Given the description of an element on the screen output the (x, y) to click on. 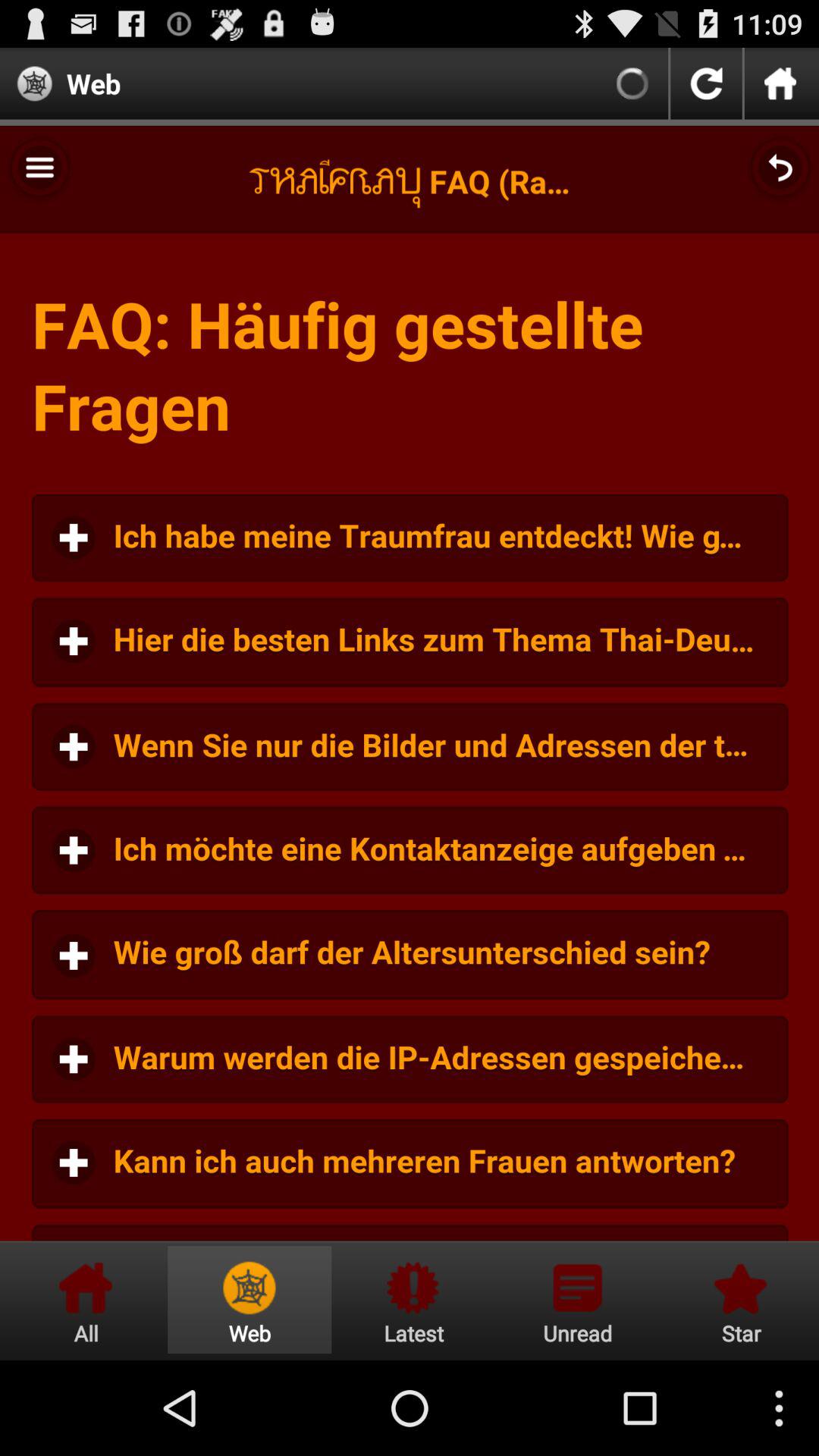
unread (577, 1299)
